Given the description of an element on the screen output the (x, y) to click on. 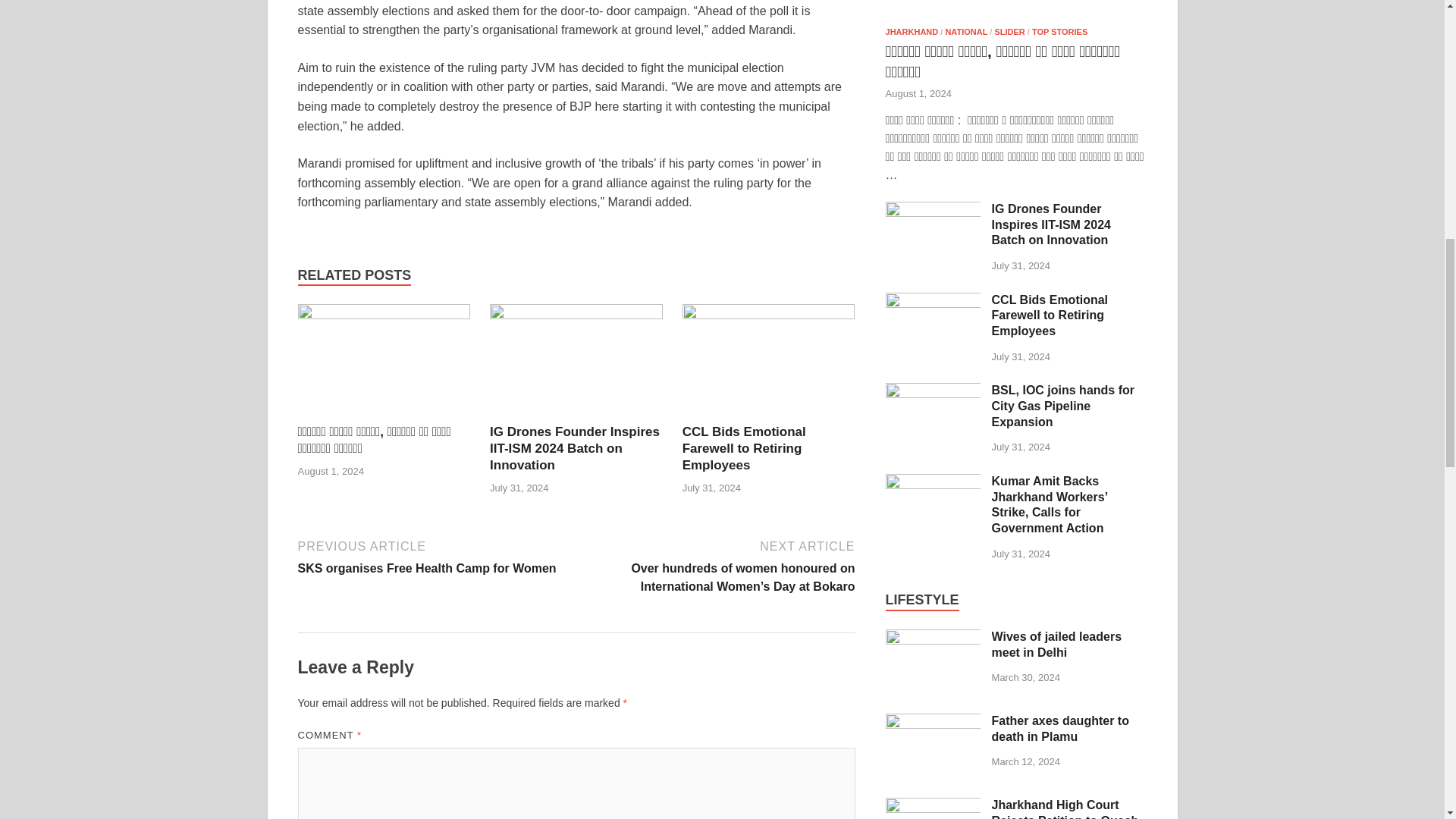
August 1, 2024 (918, 93)
IG Drones Founder Inspires IIT-ISM 2024 Batch on Innovation (932, 210)
BSL, IOC joins hands for City Gas Pipeline Expansion (434, 555)
IG Drones Founder Inspires IIT-ISM 2024 Batch on Innovation (932, 391)
CCL Bids Emotional Farewell to Retiring Employees (574, 448)
JHARKHAND (769, 363)
TOP STORIES (912, 31)
CCL Bids Emotional Farewell to Retiring Employees (1059, 31)
IG Drones Founder Inspires IIT-ISM 2024 Batch on Innovation (932, 300)
CCL Bids Emotional Farewell to Retiring Employees (574, 448)
Wives of jailed leaders meet in Delhi (744, 448)
CCL Bids Emotional Farewell to Retiring Employees (932, 637)
SLIDER (744, 448)
IG Drones Founder Inspires IIT-ISM 2024 Batch on Innovation (1009, 31)
